Given the description of an element on the screen output the (x, y) to click on. 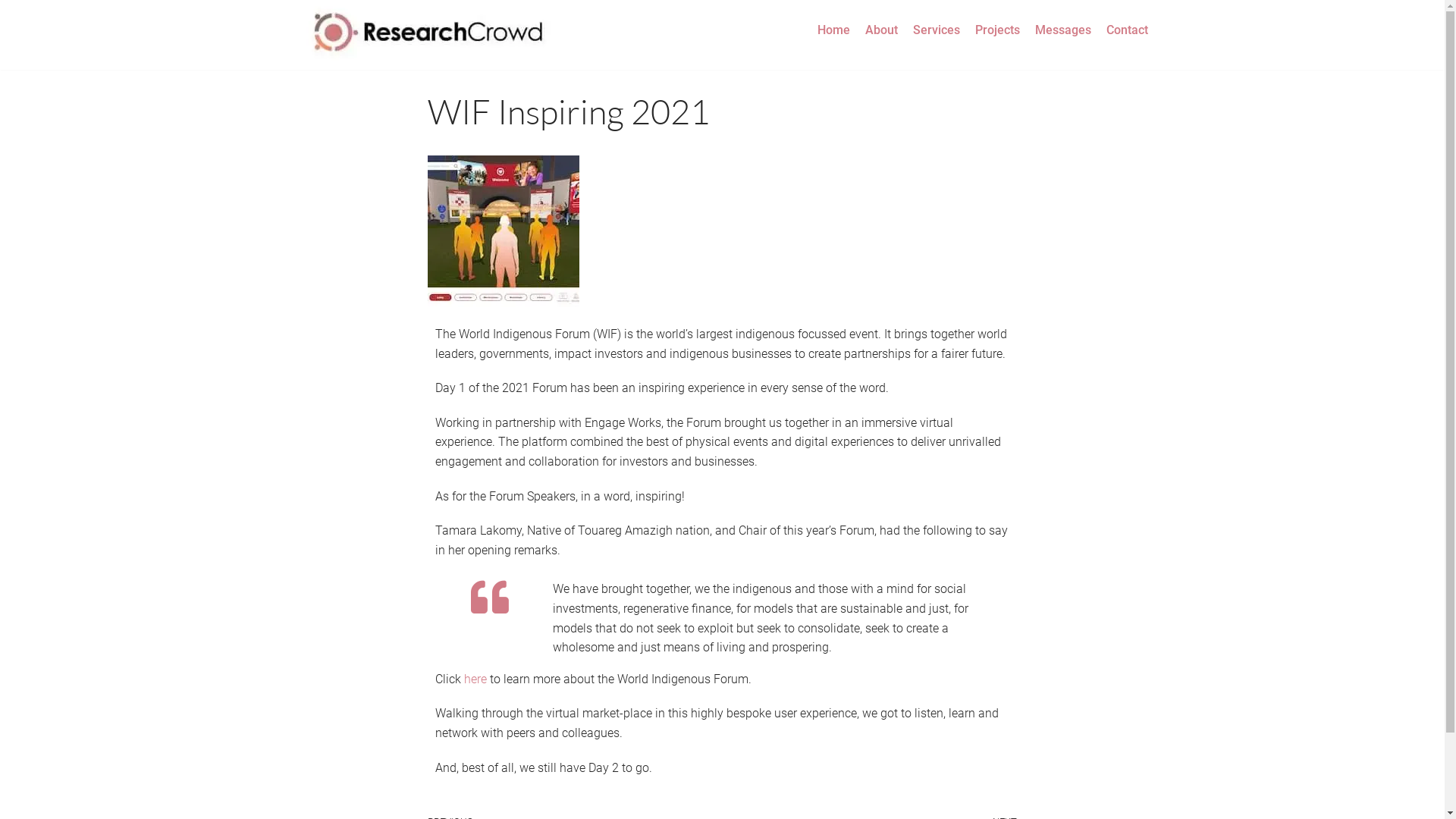
Projects Element type: text (997, 30)
Contact Element type: text (1127, 30)
Messages Element type: text (1063, 30)
Services Element type: text (936, 30)
here Element type: text (475, 678)
Home Element type: text (833, 30)
About Element type: text (881, 30)
